Given the description of an element on the screen output the (x, y) to click on. 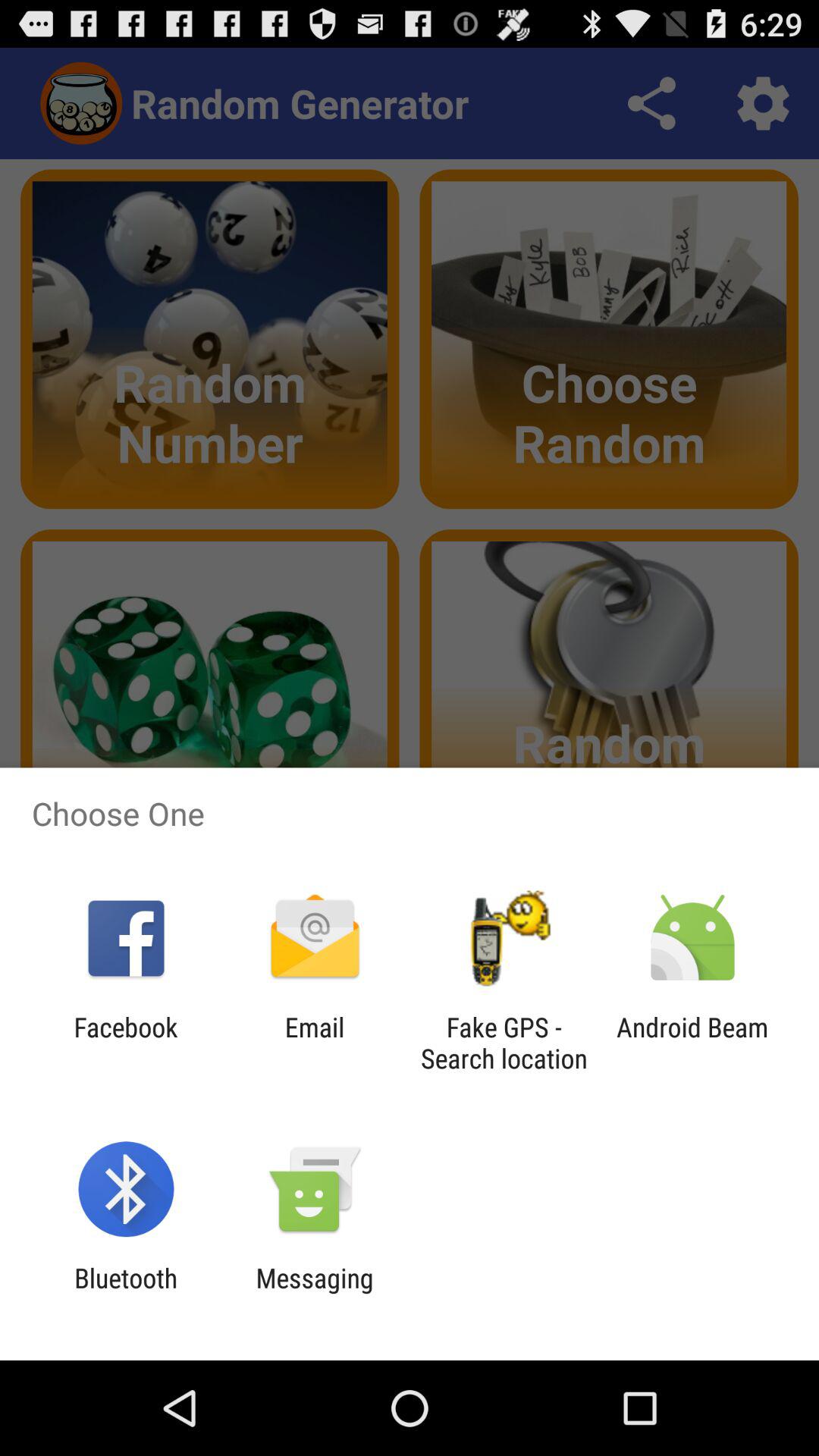
open app to the left of fake gps search app (314, 1042)
